Given the description of an element on the screen output the (x, y) to click on. 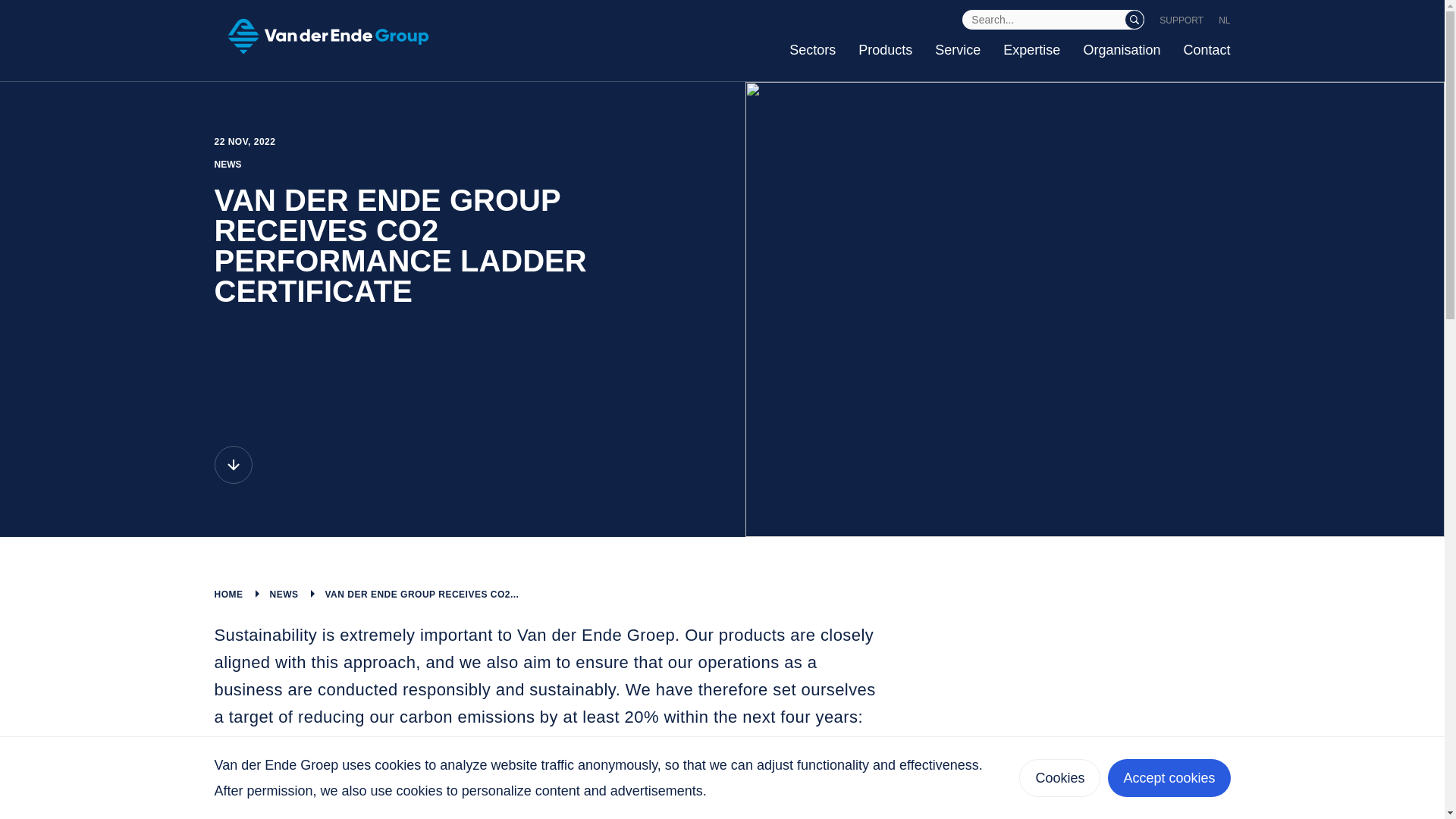
nl (1224, 20)
News (283, 593)
Expertise (1031, 49)
Products (885, 49)
Service (956, 49)
Organisation (1121, 49)
Sectors (812, 49)
Van der Ende Group receives CO2... (421, 593)
Support (1181, 20)
